Given the description of an element on the screen output the (x, y) to click on. 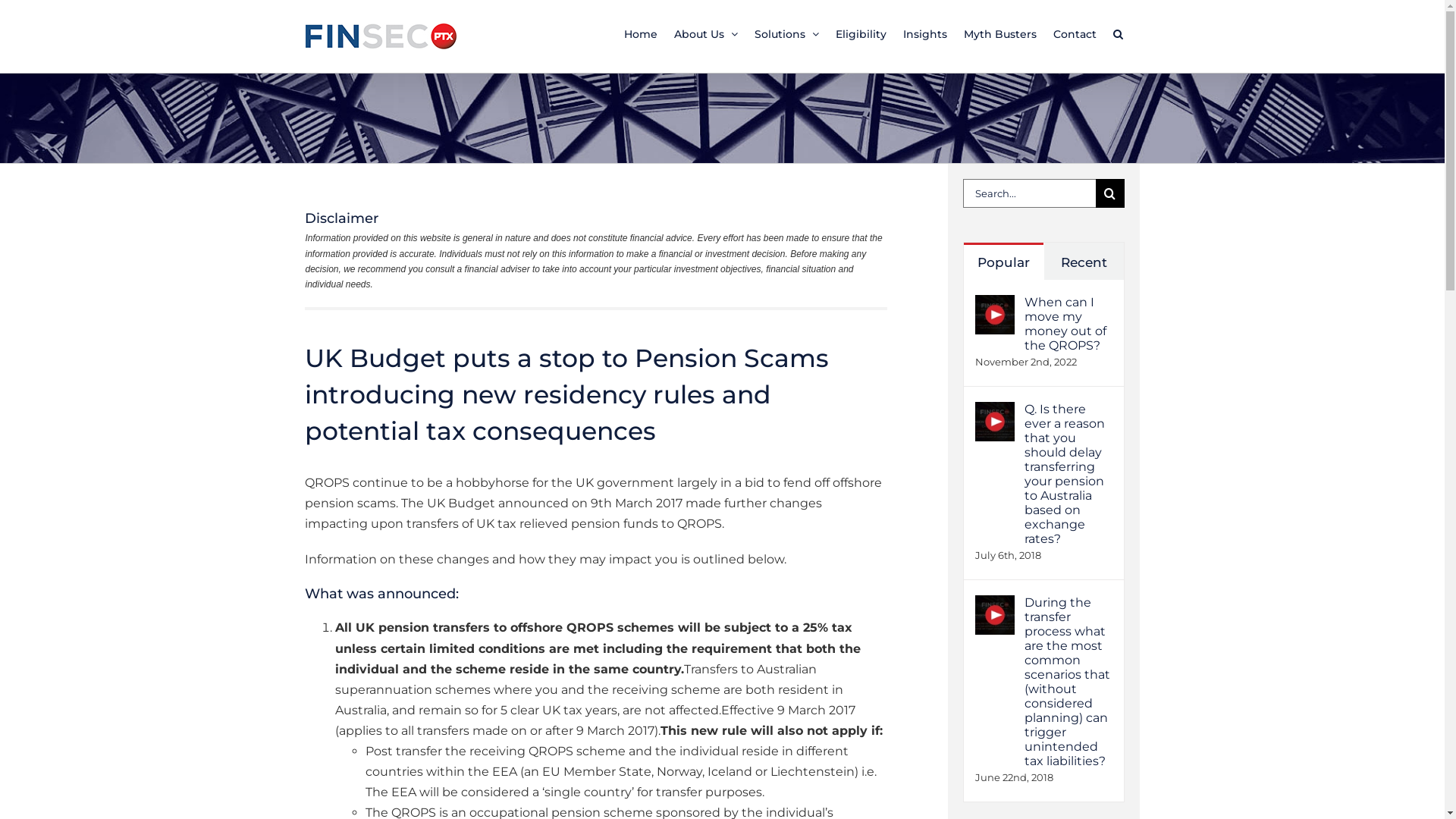
Insights Element type: text (924, 32)
Recent Element type: text (1083, 260)
Popular Element type: text (1002, 260)
Search Element type: hover (1118, 32)
Home Element type: text (639, 32)
Solutions Element type: text (785, 32)
About Us Element type: text (705, 32)
Myth Busters Element type: text (999, 32)
Eligibility Element type: text (860, 32)
When can I move my money out of the QROPS? Element type: text (1067, 323)
Contact Element type: text (1073, 32)
